Given the description of an element on the screen output the (x, y) to click on. 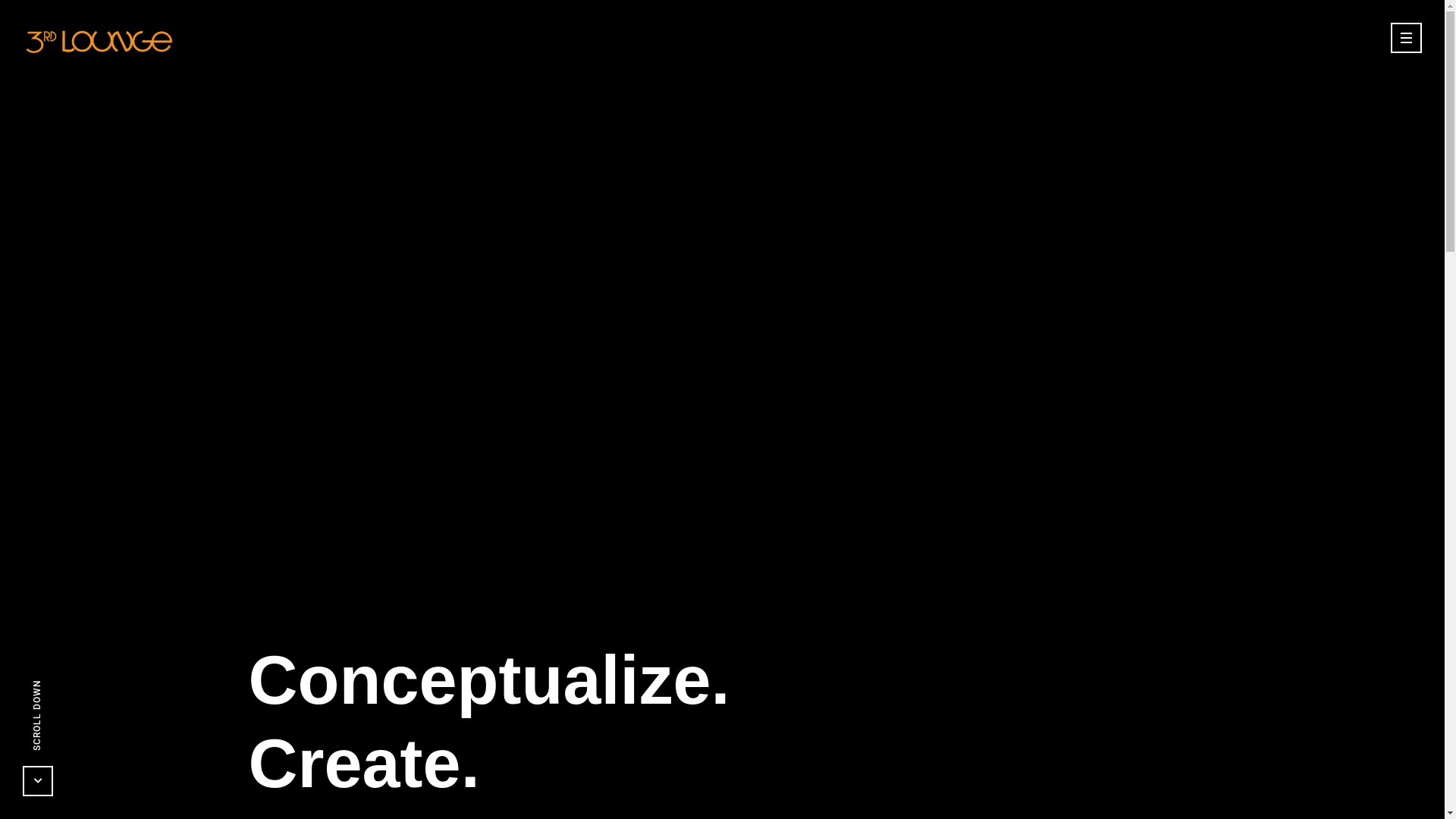
Create. Element type: text (363, 763)
Conceptualize. Element type: text (488, 680)
